Given the description of an element on the screen output the (x, y) to click on. 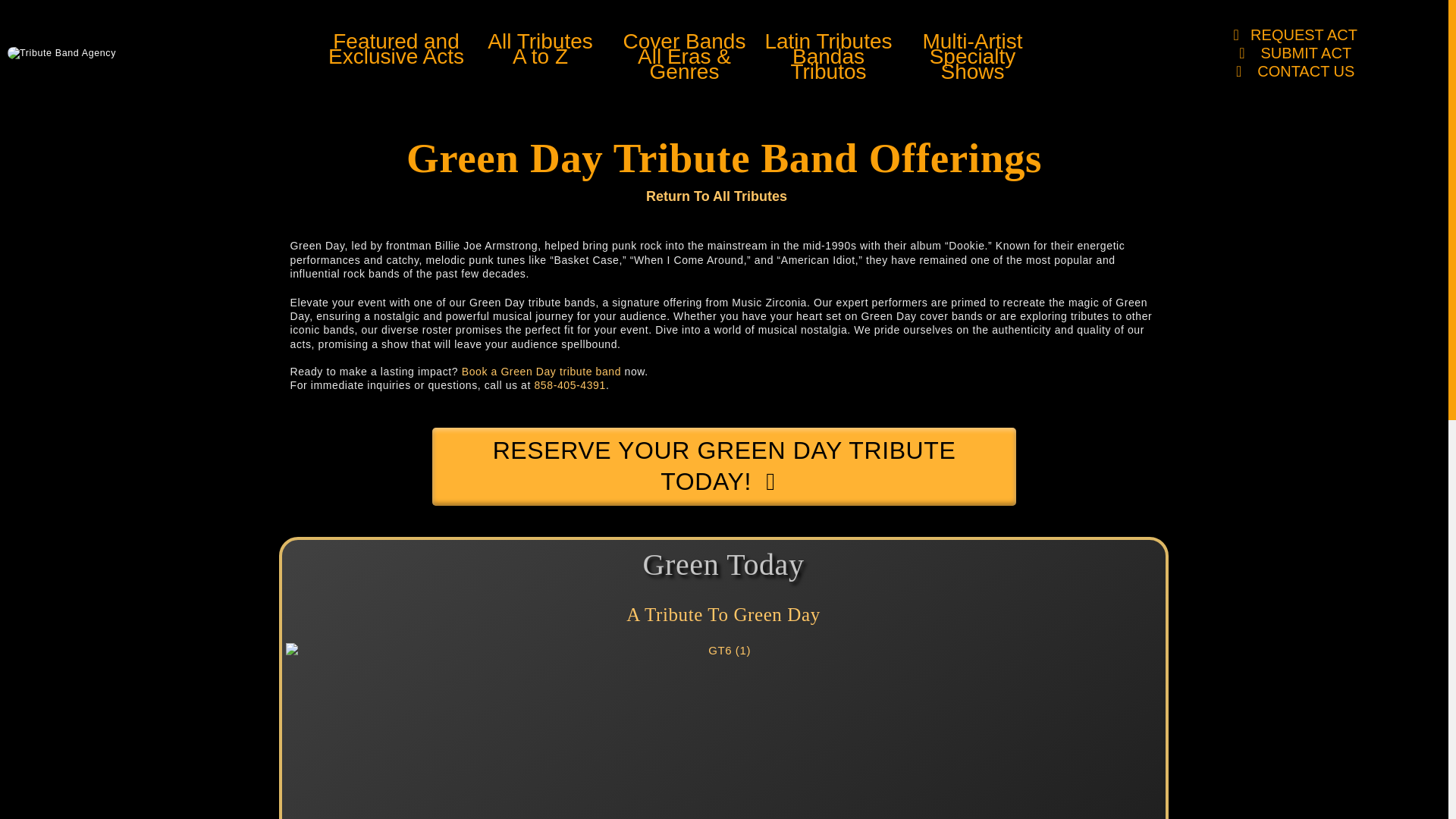
 CONTACT US (829, 53)
Return To All Tributes (1291, 70)
RESERVE YOUR GREEN DAY TRIBUTE TODAY! (716, 196)
858-405-4391 (396, 53)
 SUBMIT ACT (724, 466)
Book a Green Day tribute band (540, 53)
REQUEST ACT (569, 385)
